Given the description of an element on the screen output the (x, y) to click on. 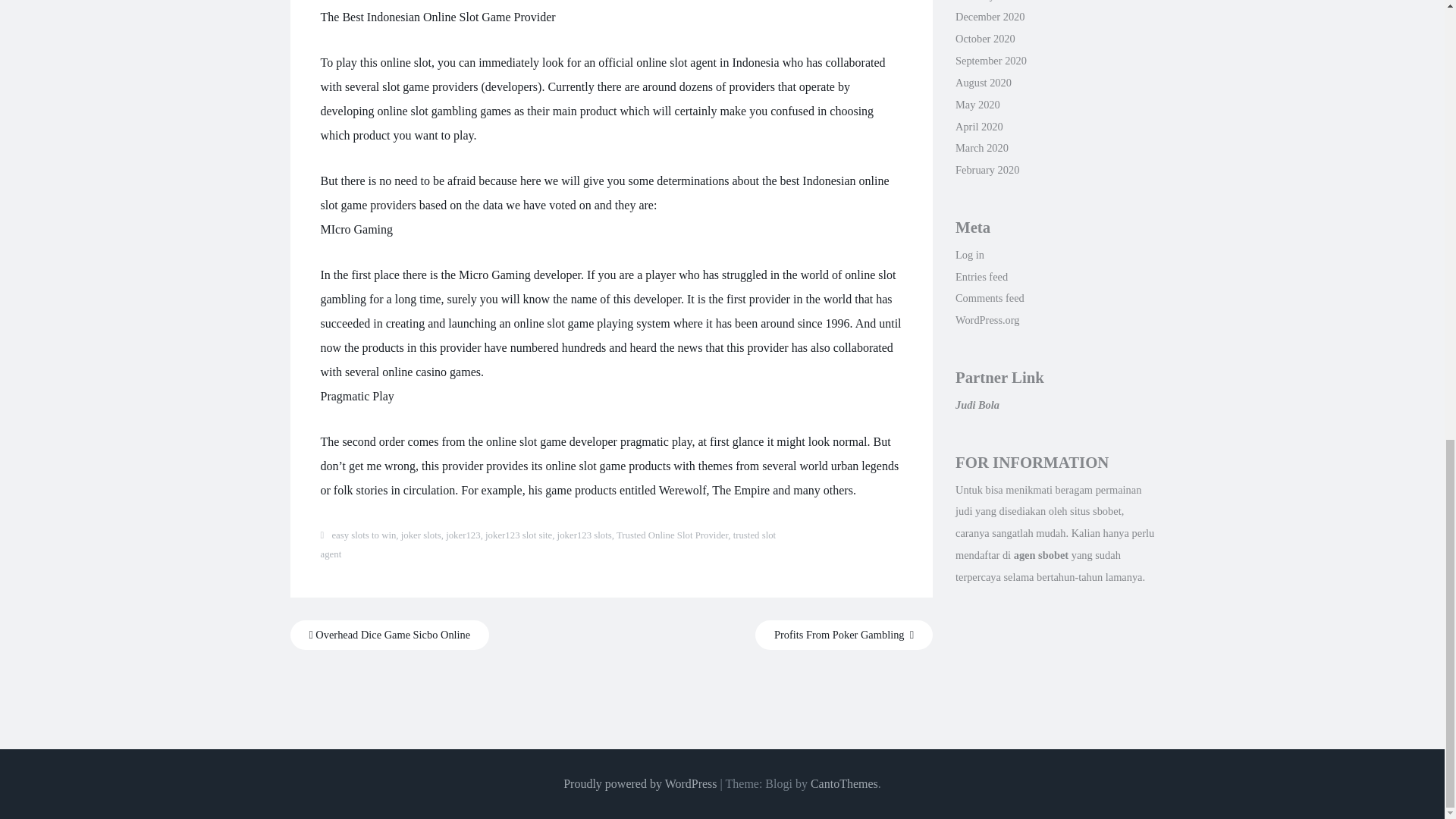
joker123 slots (584, 534)
Profits From Poker Gambling  (844, 634)
joker123 (462, 534)
Trusted Online Slot Provider (671, 534)
trusted slot agent (548, 544)
joker slots (421, 534)
Overhead Dice Game Sicbo Online (389, 634)
joker123 slot site (517, 534)
easy slots to win (363, 534)
